Given the description of an element on the screen output the (x, y) to click on. 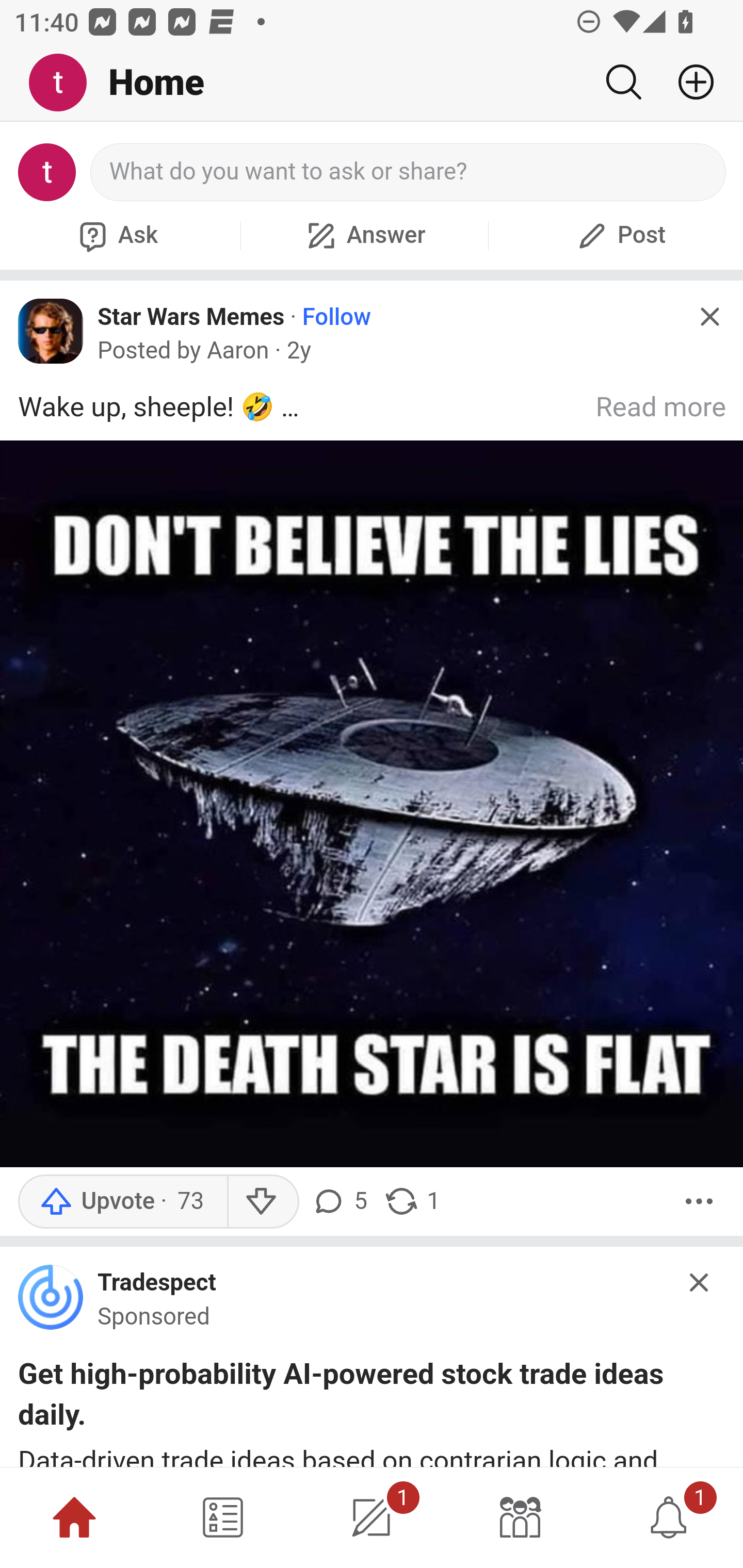
Me (64, 83)
Search (623, 82)
Add (688, 82)
What do you want to ask or share? (408, 172)
Ask (116, 234)
Answer (364, 234)
Post (618, 234)
Hide (709, 316)
Icon for Star Wars Memes (50, 330)
Star Wars Memes (191, 315)
Follow (336, 316)
Wake up, sheeple! 🤣   … Read more (372, 777)
Upvote (122, 1201)
Downvote (262, 1201)
5 comments (342, 1201)
1 share (411, 1201)
More (699, 1201)
Hide (699, 1283)
main-qimg-8999dc0e311b8271df164a63541a9fb0 (50, 1301)
Tradespect (156, 1282)
1 (371, 1517)
1 (668, 1517)
